Given the description of an element on the screen output the (x, y) to click on. 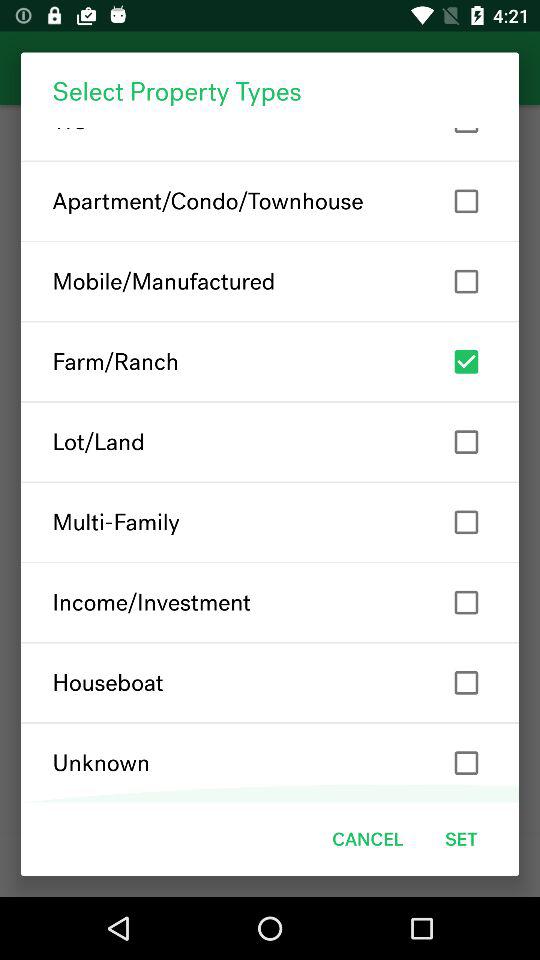
jump until the houseboat item (270, 682)
